Given the description of an element on the screen output the (x, y) to click on. 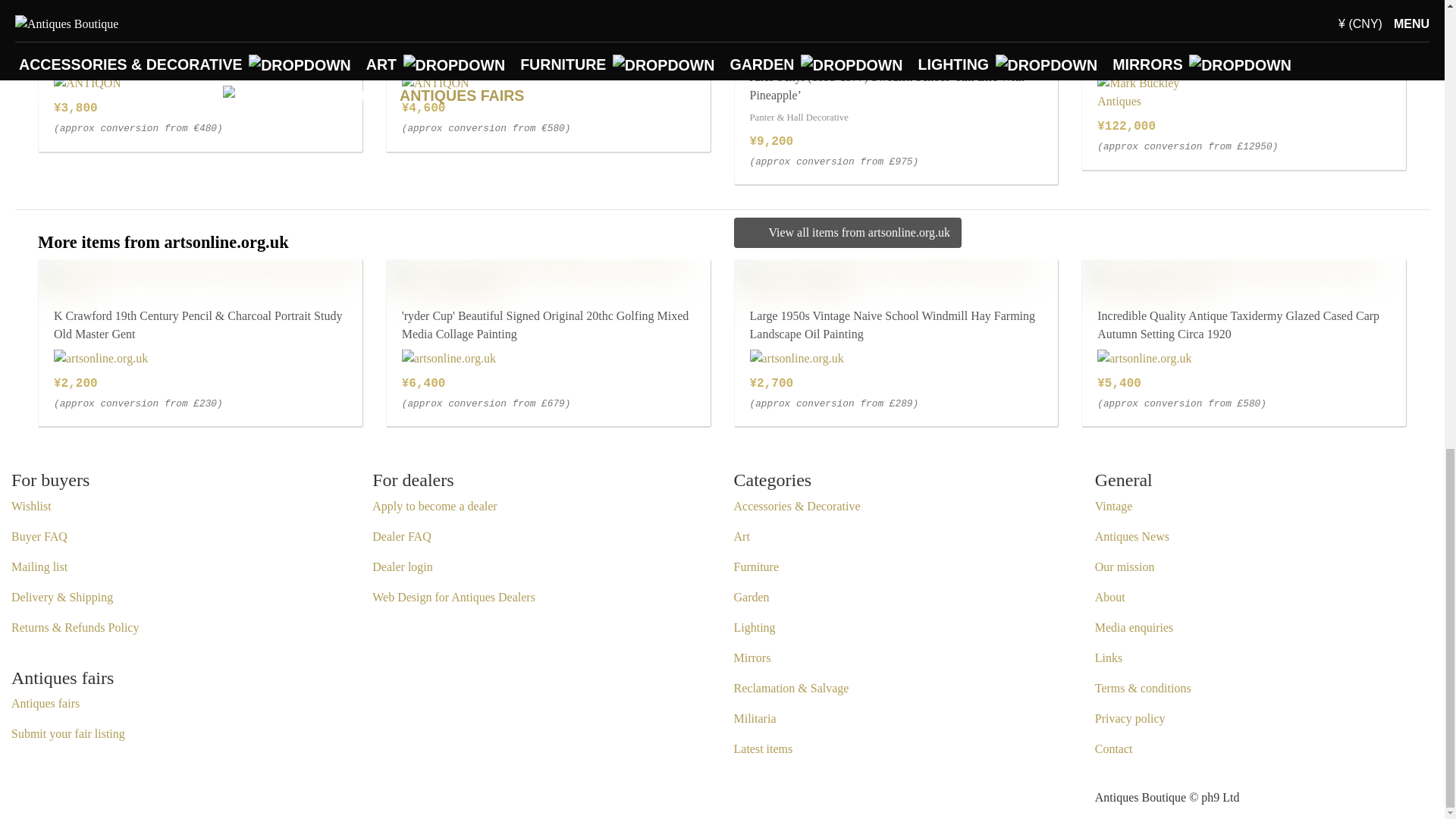
Coast (58, 29)
